Given the description of an element on the screen output the (x, y) to click on. 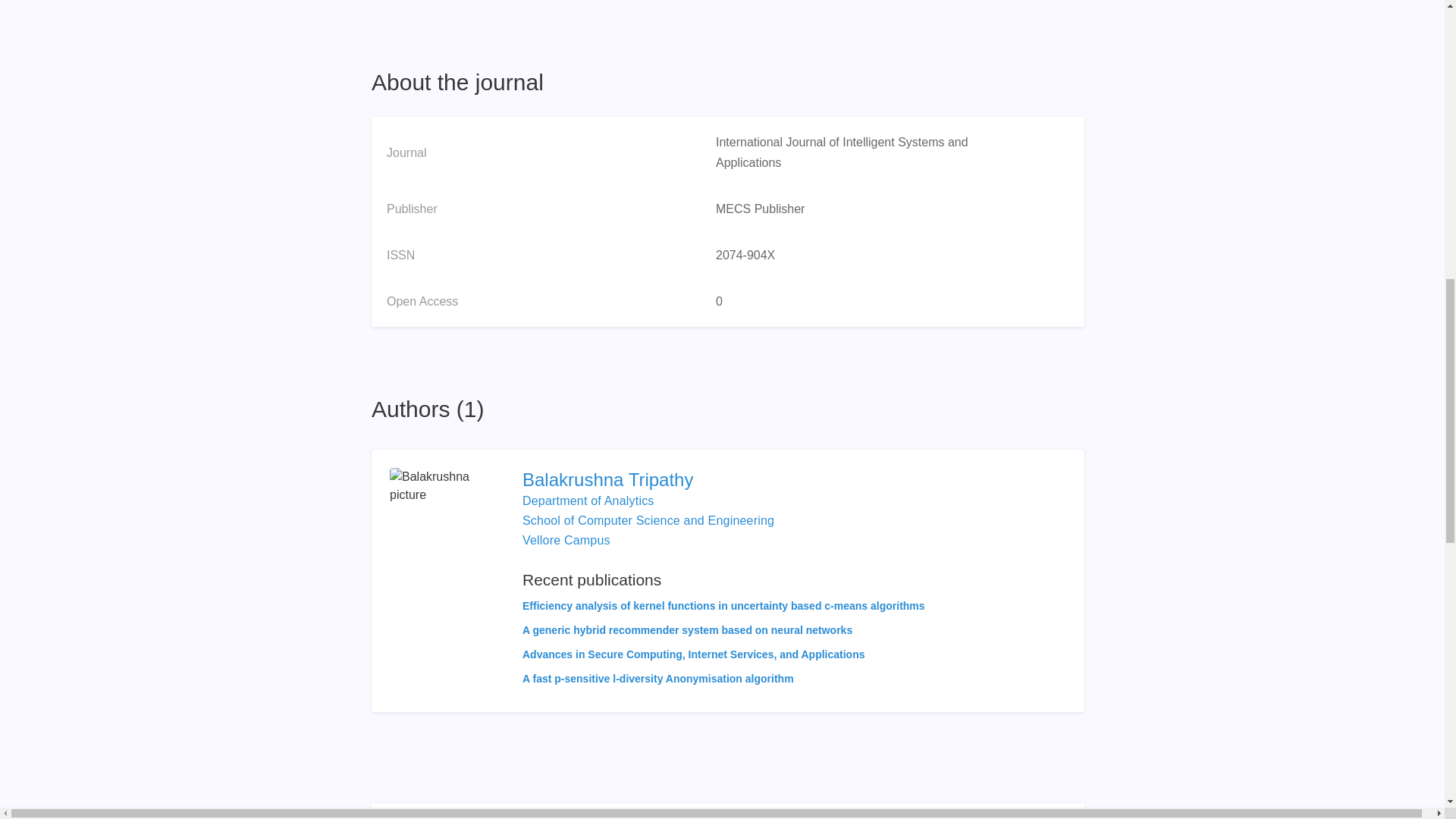
School of Computer Science and Engineering (648, 520)
A fast p-sensitive l-diversity Anonymisation algorithm (657, 678)
Vellore Campus (566, 540)
Balakrushna Tripathy (723, 479)
A generic hybrid recommender system based on neural networks (686, 630)
Department of Analytics (587, 500)
